Given the description of an element on the screen output the (x, y) to click on. 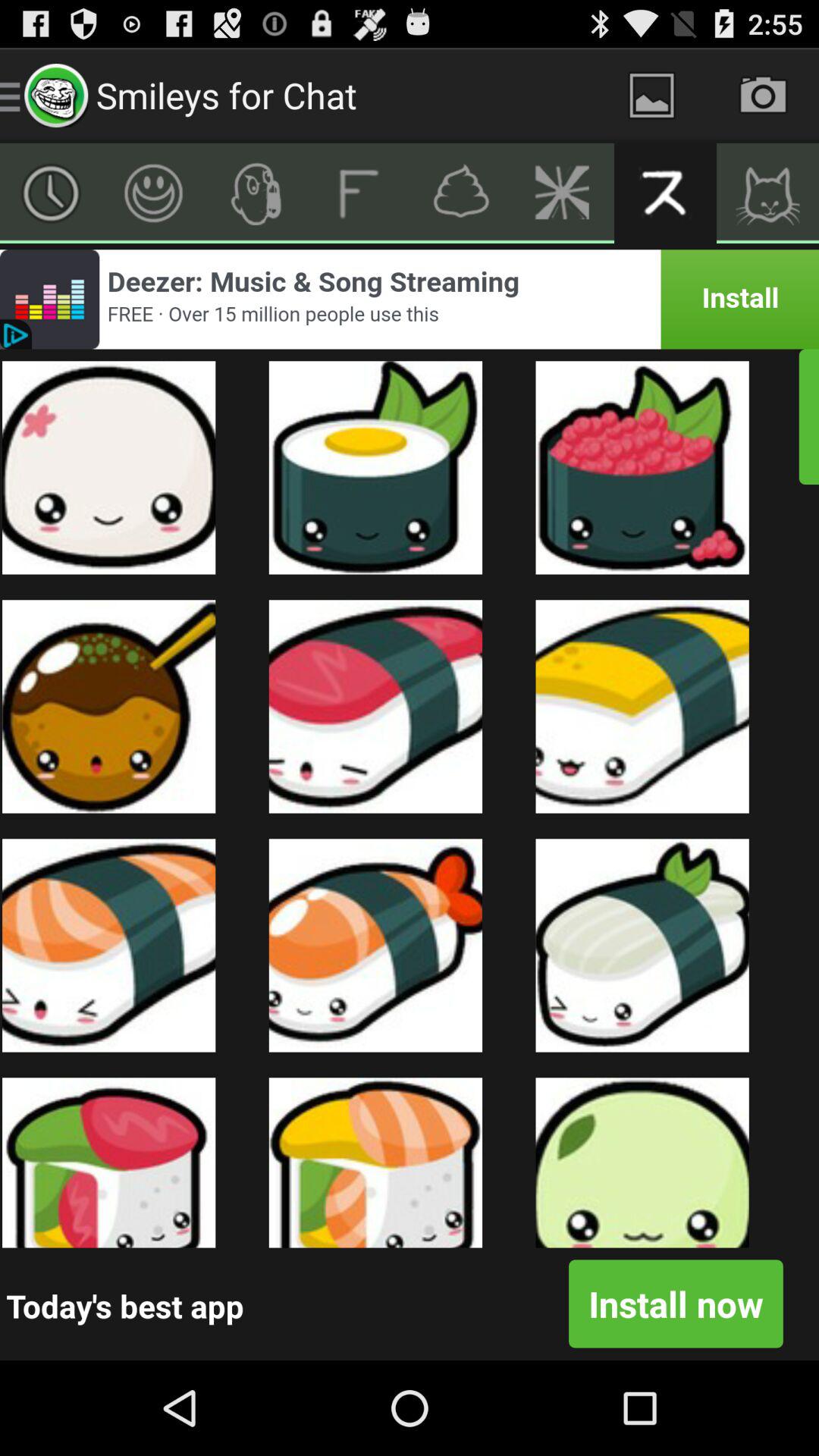
photos button (651, 95)
